Given the description of an element on the screen output the (x, y) to click on. 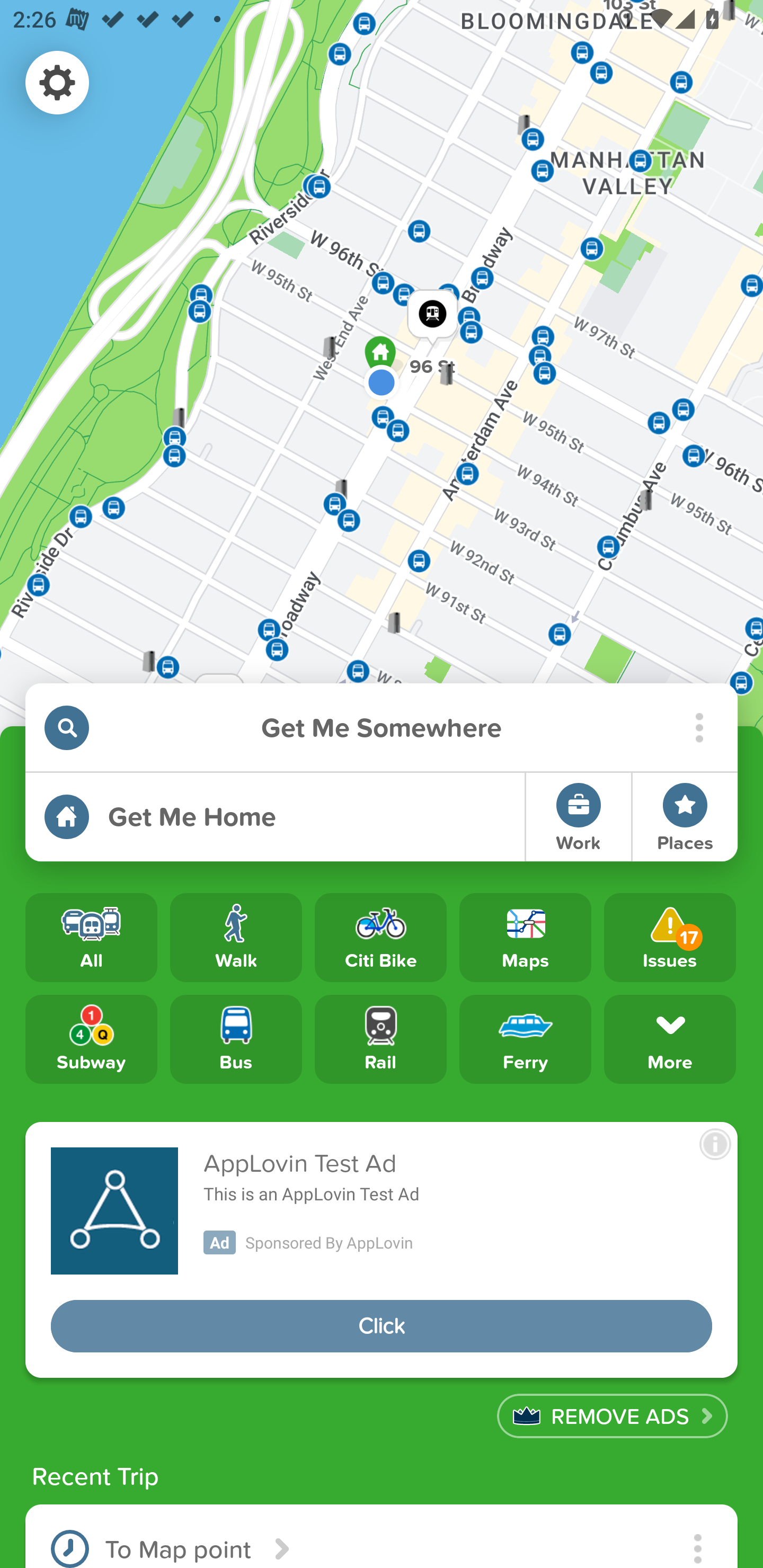
Citi Bike (380, 937)
